Given the description of an element on the screen output the (x, y) to click on. 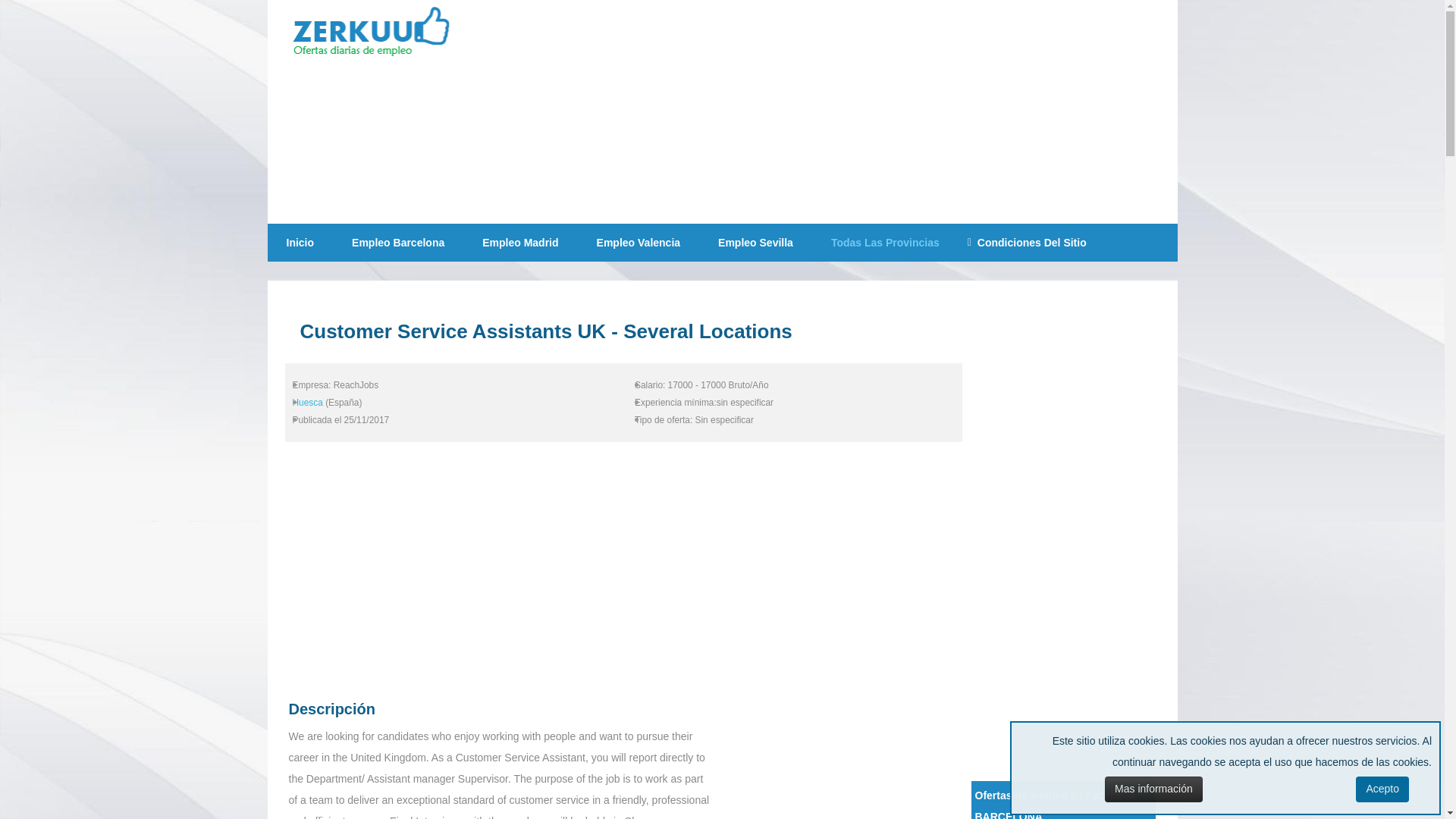
Empleo Madrid (519, 242)
Todas Las Provincias (885, 242)
Huesca (307, 402)
Condiciones Del Sitio (1031, 242)
Inicio (299, 242)
Empleo Valencia (639, 242)
Empleo Sevilla (755, 242)
empleo,trabajo,buscar empleo,buscar trabajo (380, 34)
Zerkuu Ofertas diarias de empleo. (380, 34)
Acepto (1382, 789)
Empleo Barcelona (398, 242)
